Given the description of an element on the screen output the (x, y) to click on. 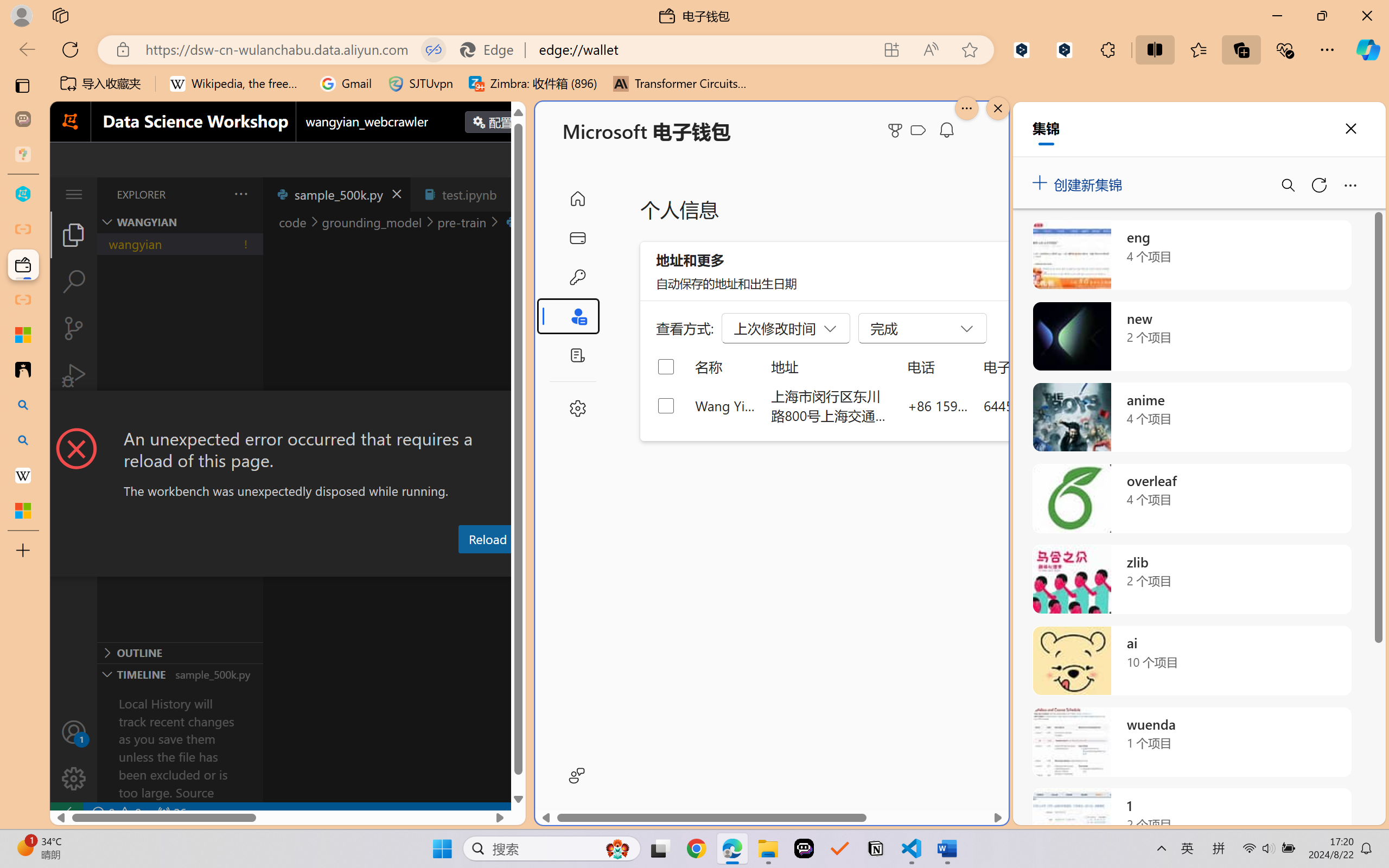
+86 159 0032 4640 (938, 405)
